Given the description of an element on the screen output the (x, y) to click on. 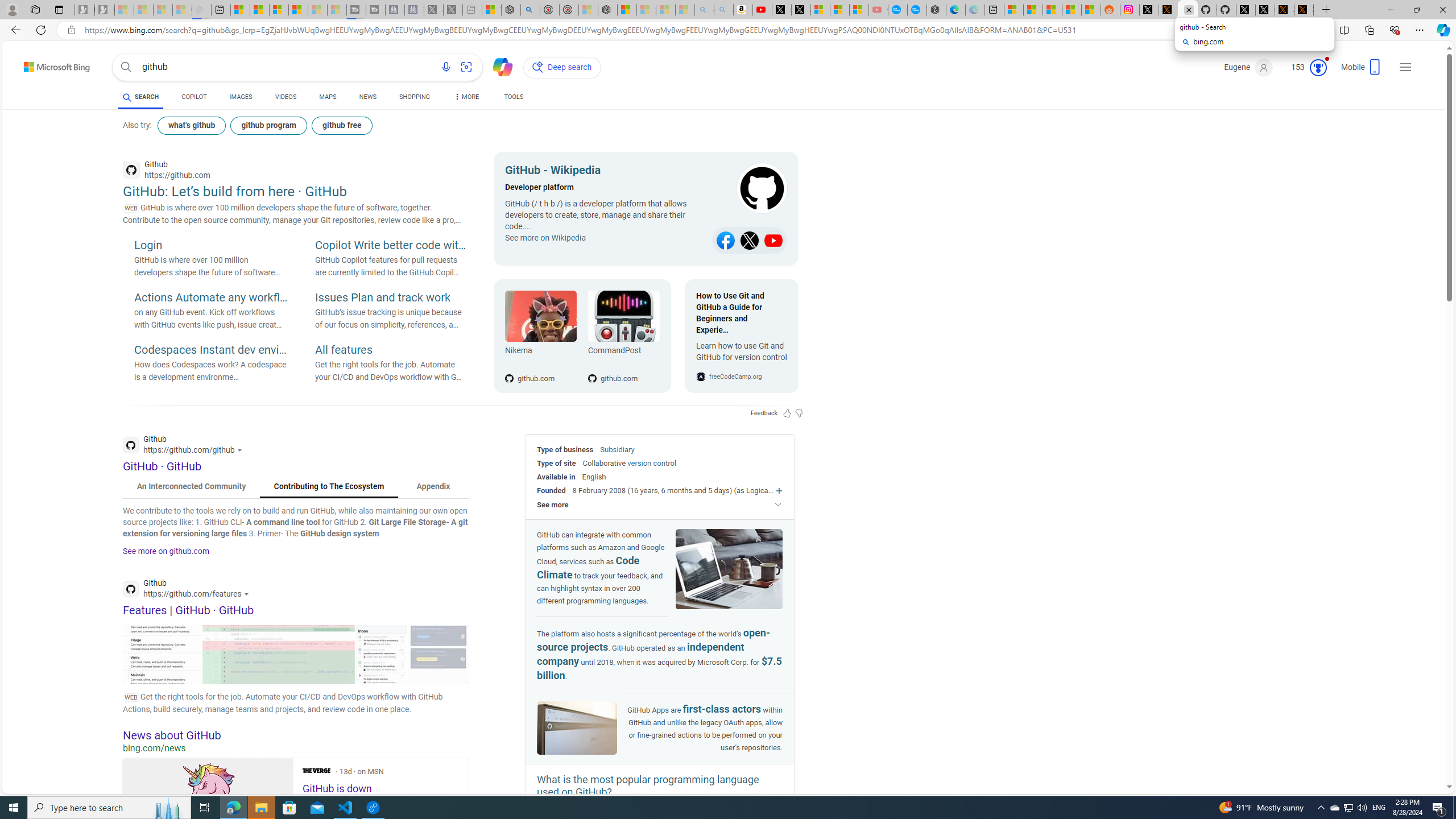
Profile / X (1245, 9)
Copilot Write better code with AI (391, 245)
Search using voice (445, 66)
help.x.com | 524: A timeout occurred (1168, 9)
what's github (191, 125)
MORE (465, 98)
Day 1: Arriving in Yemen (surreal to be here) - YouTube (762, 9)
Eugene (1249, 67)
COPILOT (193, 98)
Back to Bing search (50, 64)
Add this page to favorites (Ctrl+D) (1314, 29)
Log in to X / X (1148, 9)
